Given the description of an element on the screen output the (x, y) to click on. 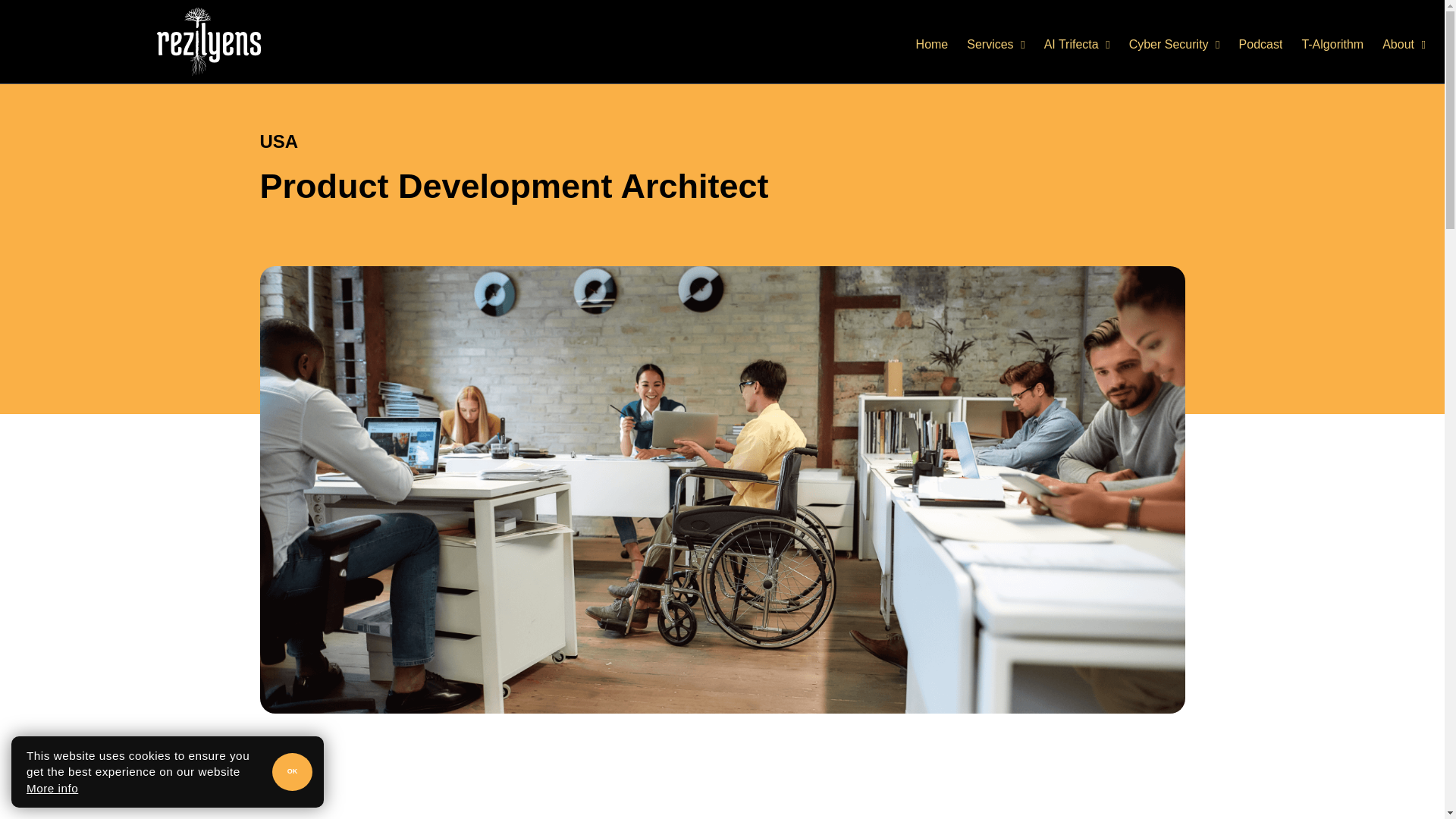
Home (932, 44)
Services (995, 44)
AI Trifecta (1076, 44)
T-Algorithm (1331, 44)
Podcast (1260, 44)
About (1403, 44)
Cyber Security (1174, 44)
